Given the description of an element on the screen output the (x, y) to click on. 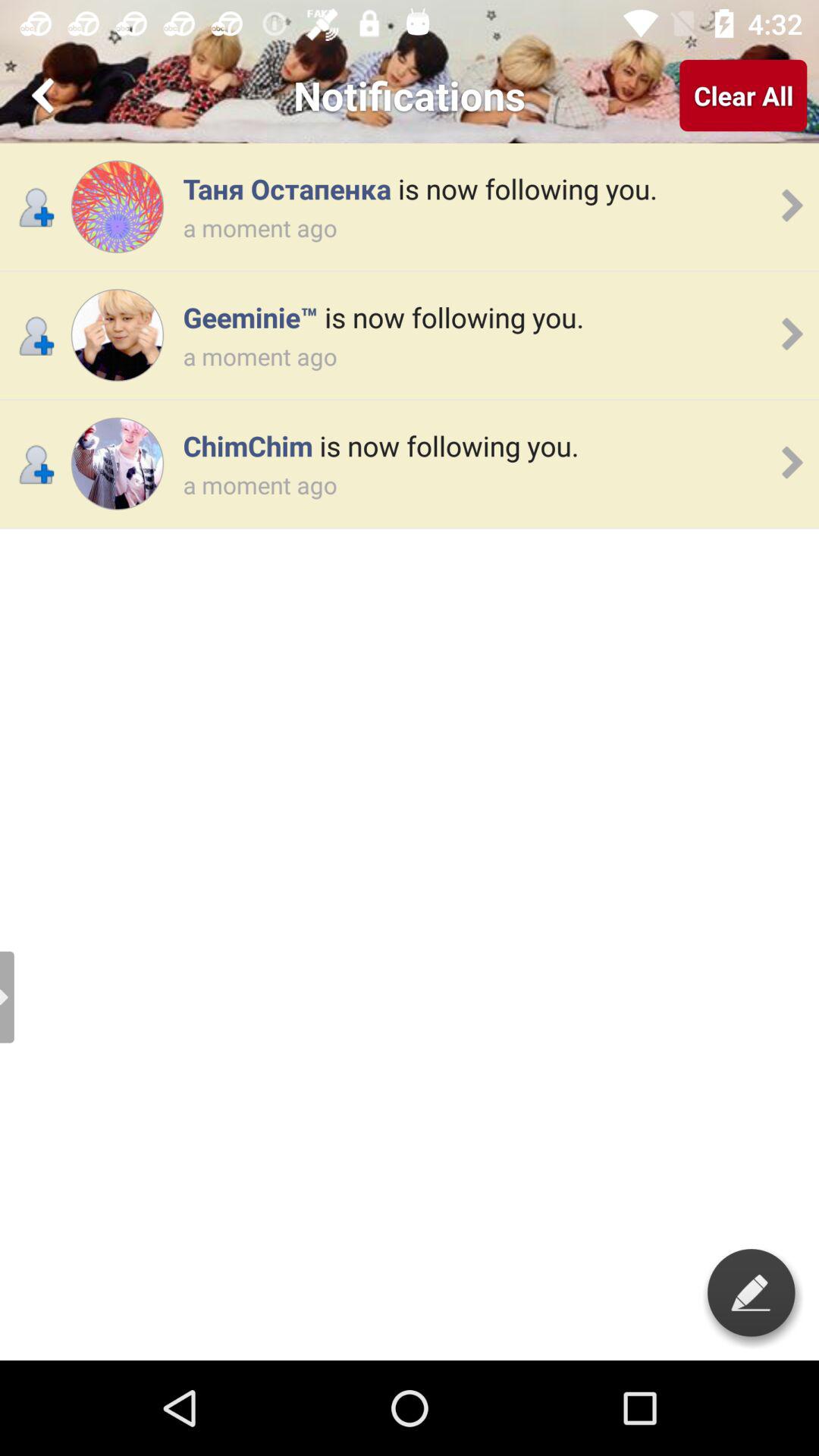
write something (751, 1292)
